Given the description of an element on the screen output the (x, y) to click on. 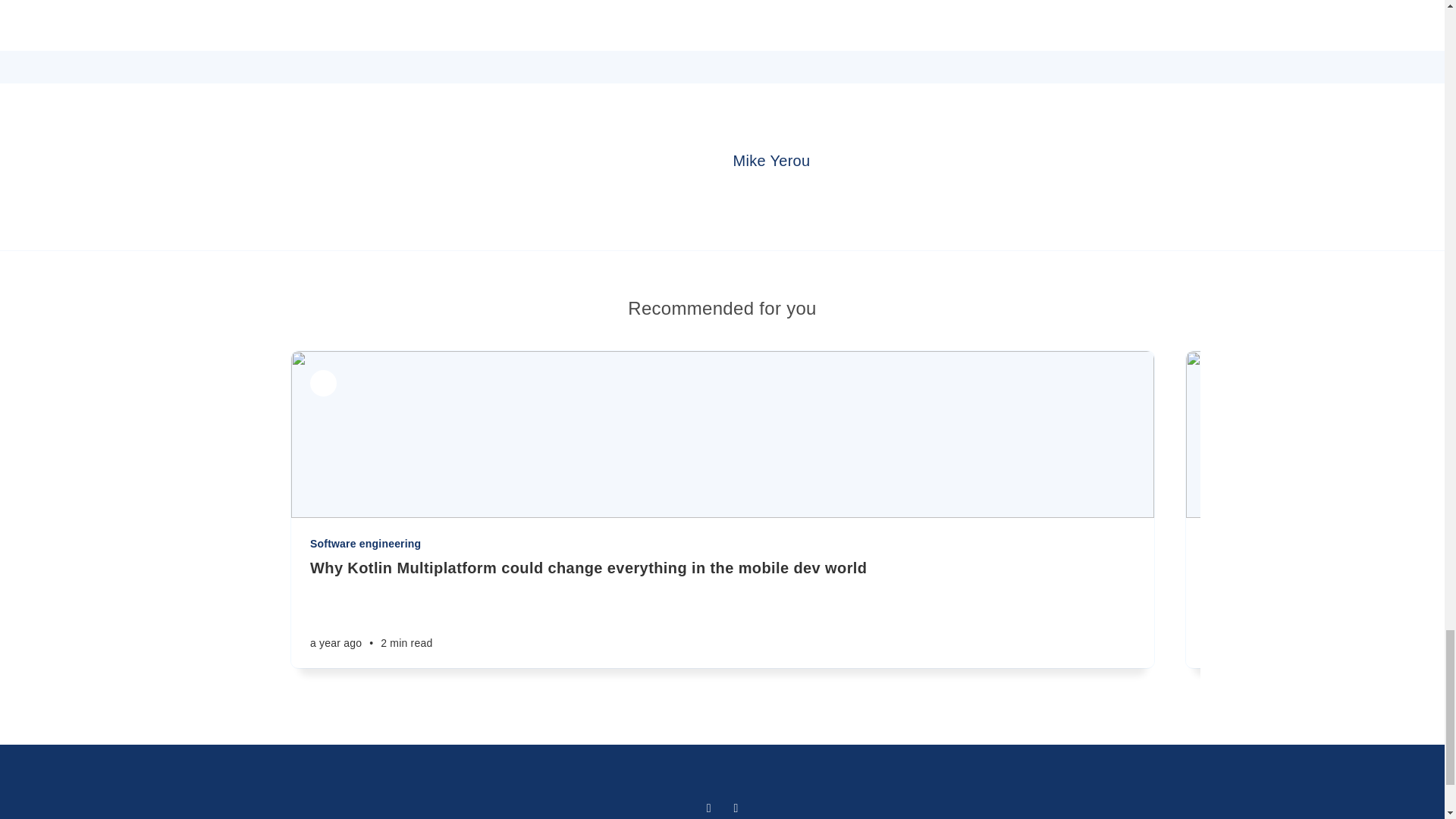
Subscribe (972, 11)
Mike Yerou (771, 160)
